Given the description of an element on the screen output the (x, y) to click on. 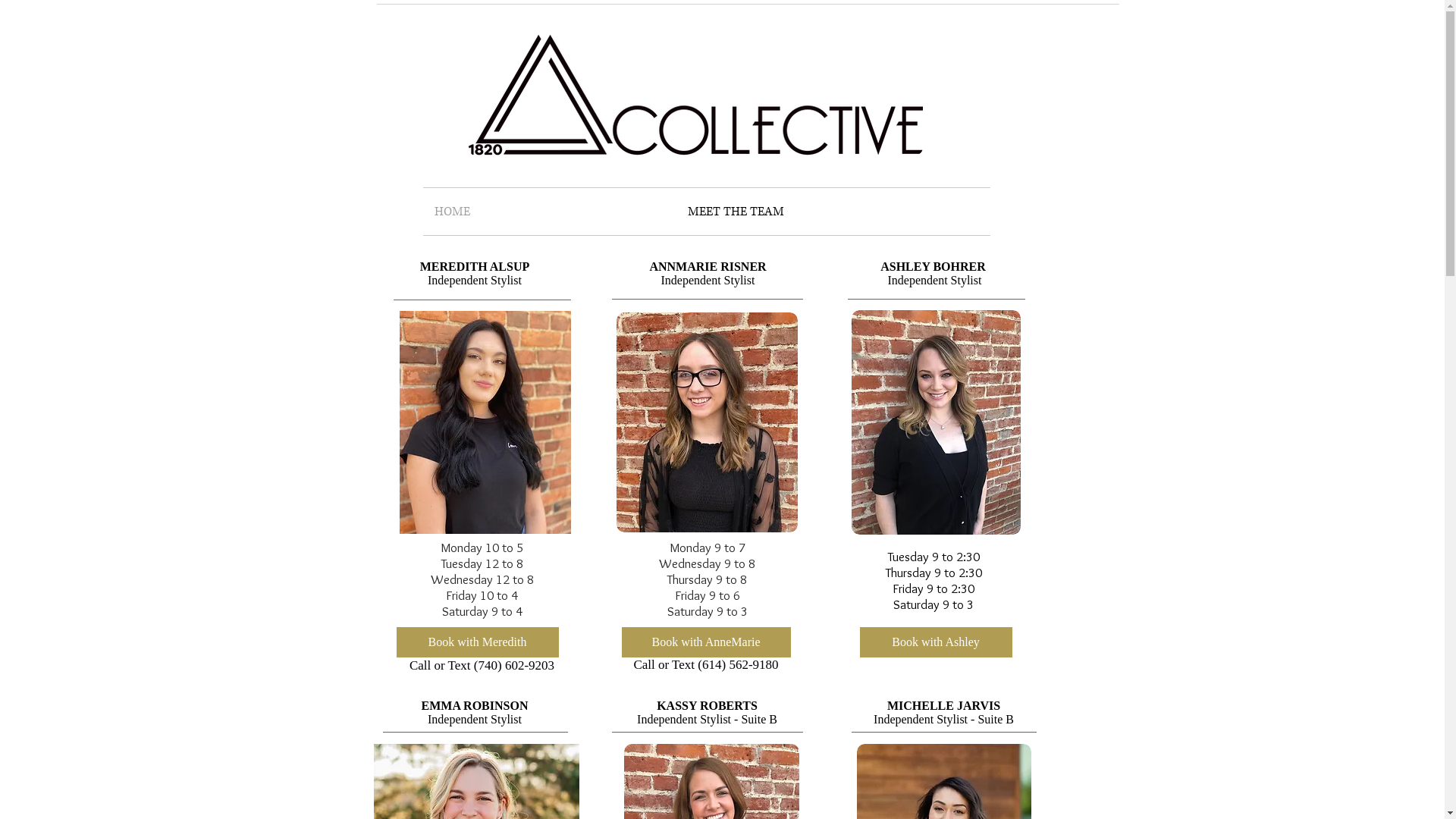
Book with AnneMarie Element type: text (705, 642)
Book with Meredith Element type: text (476, 642)
MEET THE TEAM Element type: text (833, 211)
Book with Ashley Element type: text (935, 642)
HOME Element type: text (549, 211)
IMG-5107.jpg Element type: hover (484, 421)
